Given the description of an element on the screen output the (x, y) to click on. 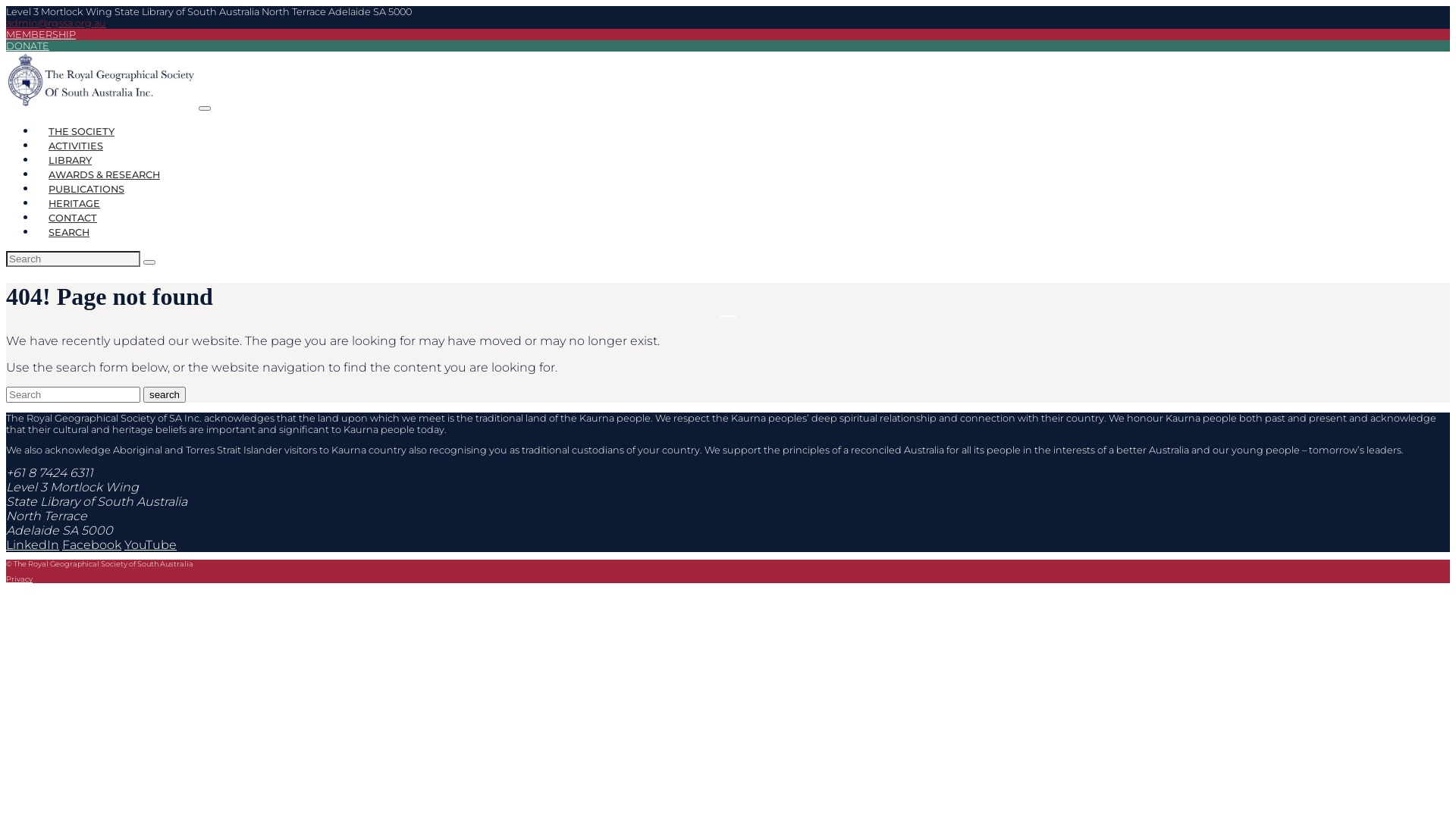
CONTACT Element type: text (72, 217)
THE SOCIETY Element type: text (81, 131)
YouTube Element type: text (150, 544)
ACTIVITIES Element type: text (75, 145)
Facebook Element type: text (91, 544)
Privacy Element type: text (19, 578)
PUBLICATIONS Element type: text (86, 189)
SEARCH Element type: text (68, 232)
admin@rgssa.org.au Element type: text (56, 22)
MEMBERSHIP Element type: text (40, 34)
DONATE Element type: text (27, 45)
search Element type: text (164, 394)
LIBRARY Element type: text (69, 160)
LinkedIn Element type: text (32, 544)
HERITAGE Element type: text (74, 203)
AWARDS & RESEARCH Element type: text (104, 174)
